Given the description of an element on the screen output the (x, y) to click on. 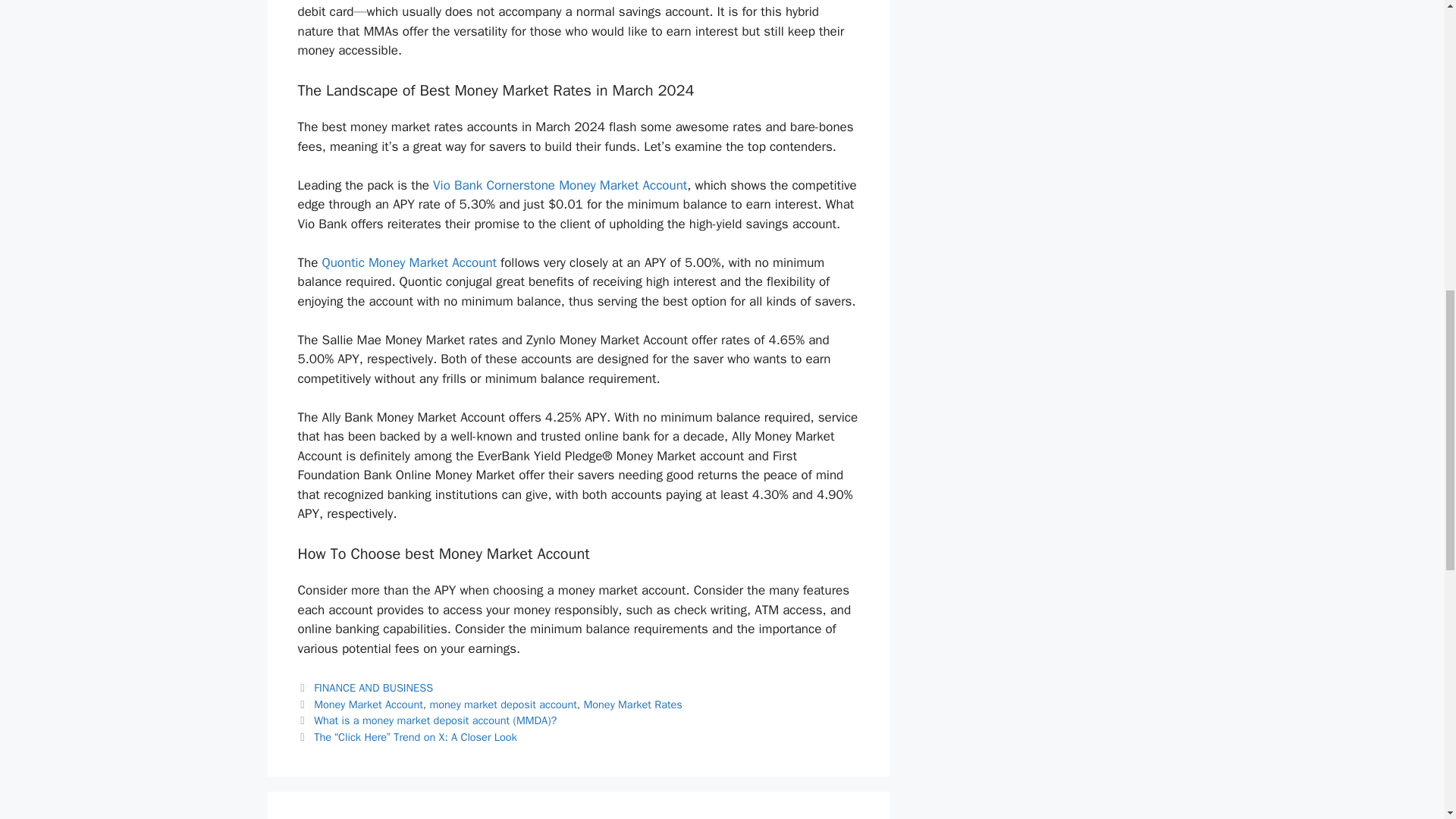
FINANCE AND BUSINESS (373, 687)
money market deposit account (502, 704)
Vio Bank Cornerstone Money Market Account (559, 185)
Money Market Account (368, 704)
Quontic Money Market Account (408, 262)
Money Market Rates (632, 704)
